Given the description of an element on the screen output the (x, y) to click on. 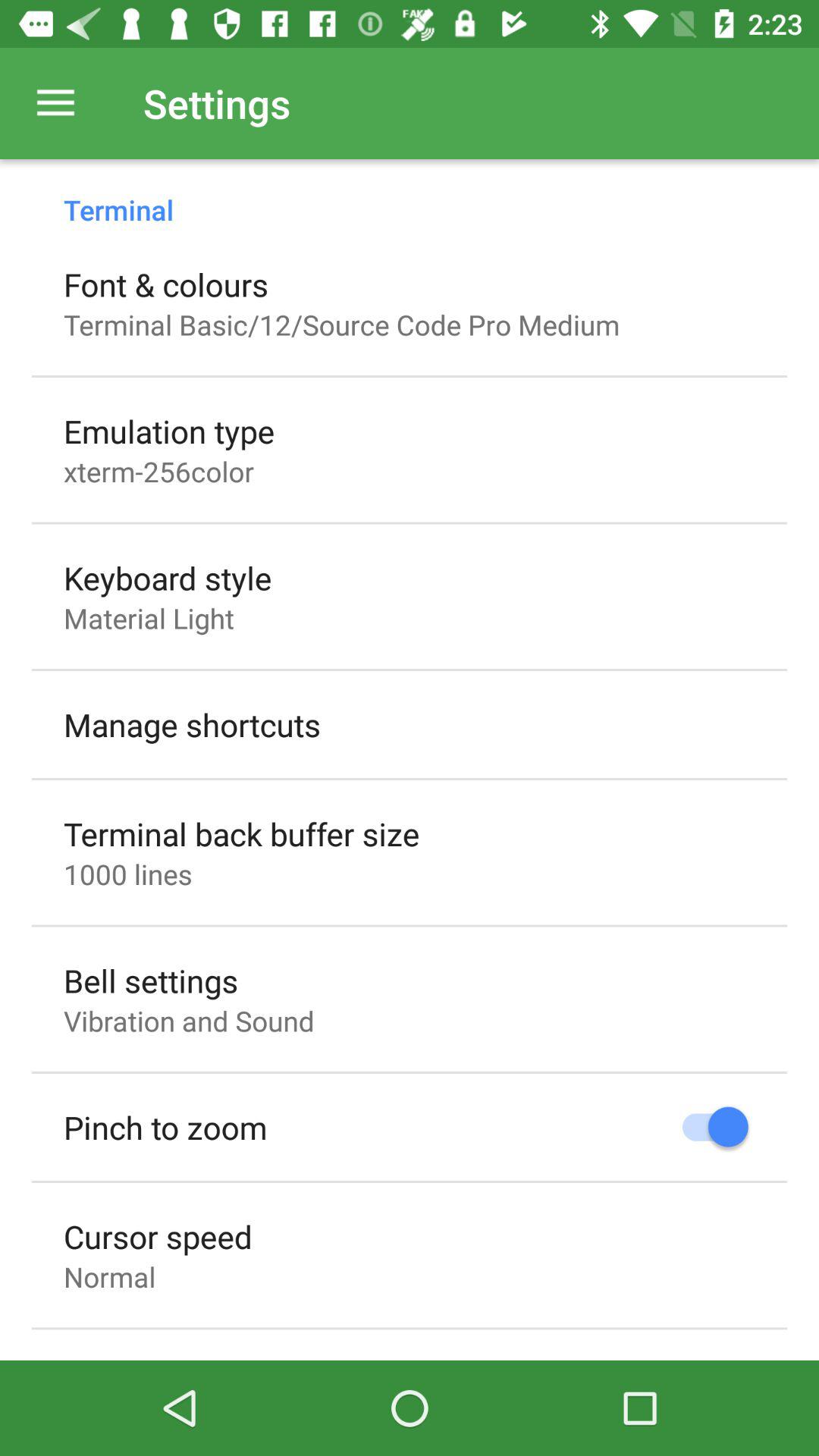
turn on the icon below vibration and sound icon (165, 1126)
